Given the description of an element on the screen output the (x, y) to click on. 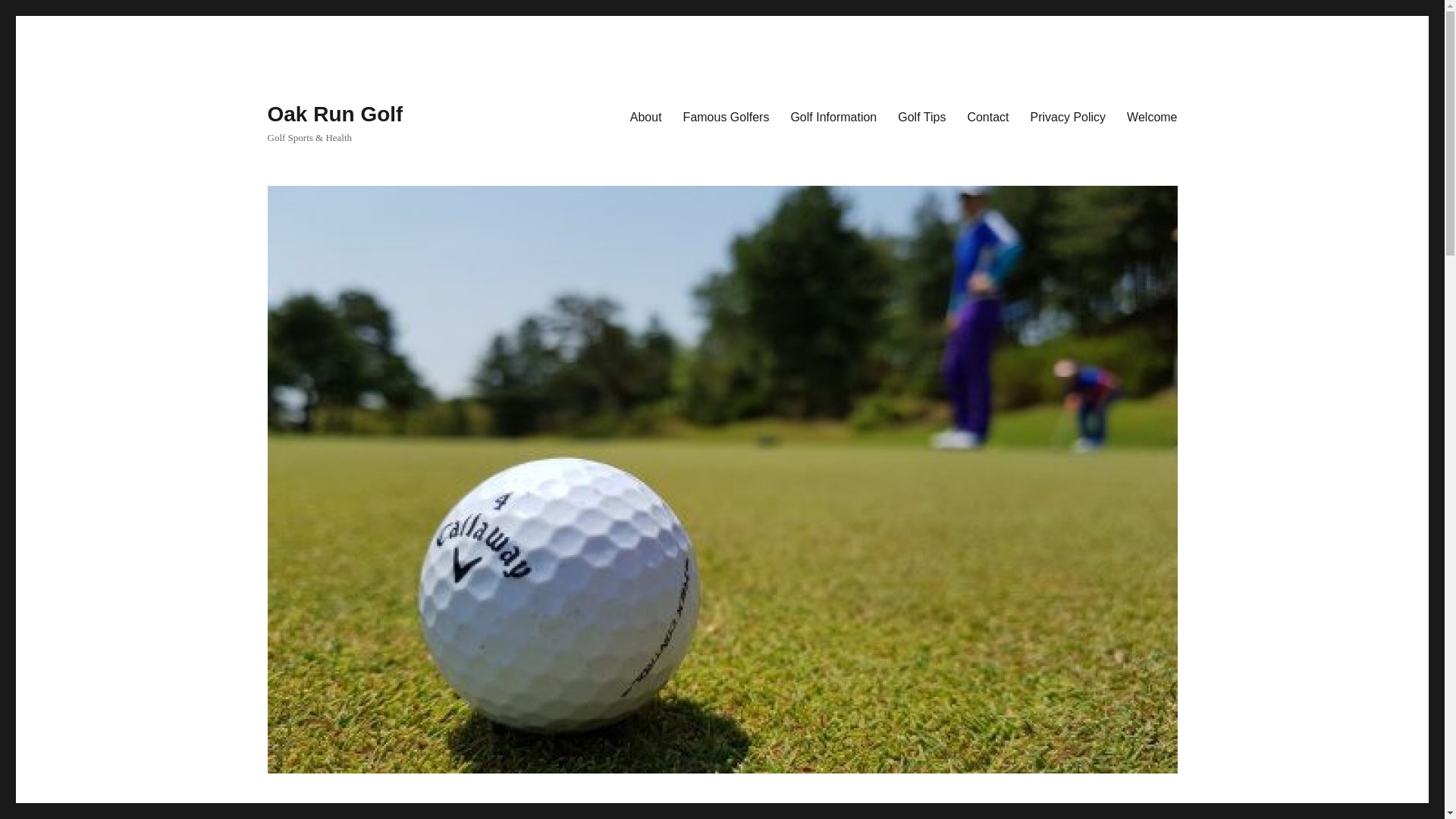
Contact (987, 116)
Oak Run Golf (334, 114)
Privacy Policy (1068, 116)
Famous Golfers (726, 116)
About (646, 116)
Golf Information (832, 116)
Golf Tips (921, 116)
Welcome (1152, 116)
